Given the description of an element on the screen output the (x, y) to click on. 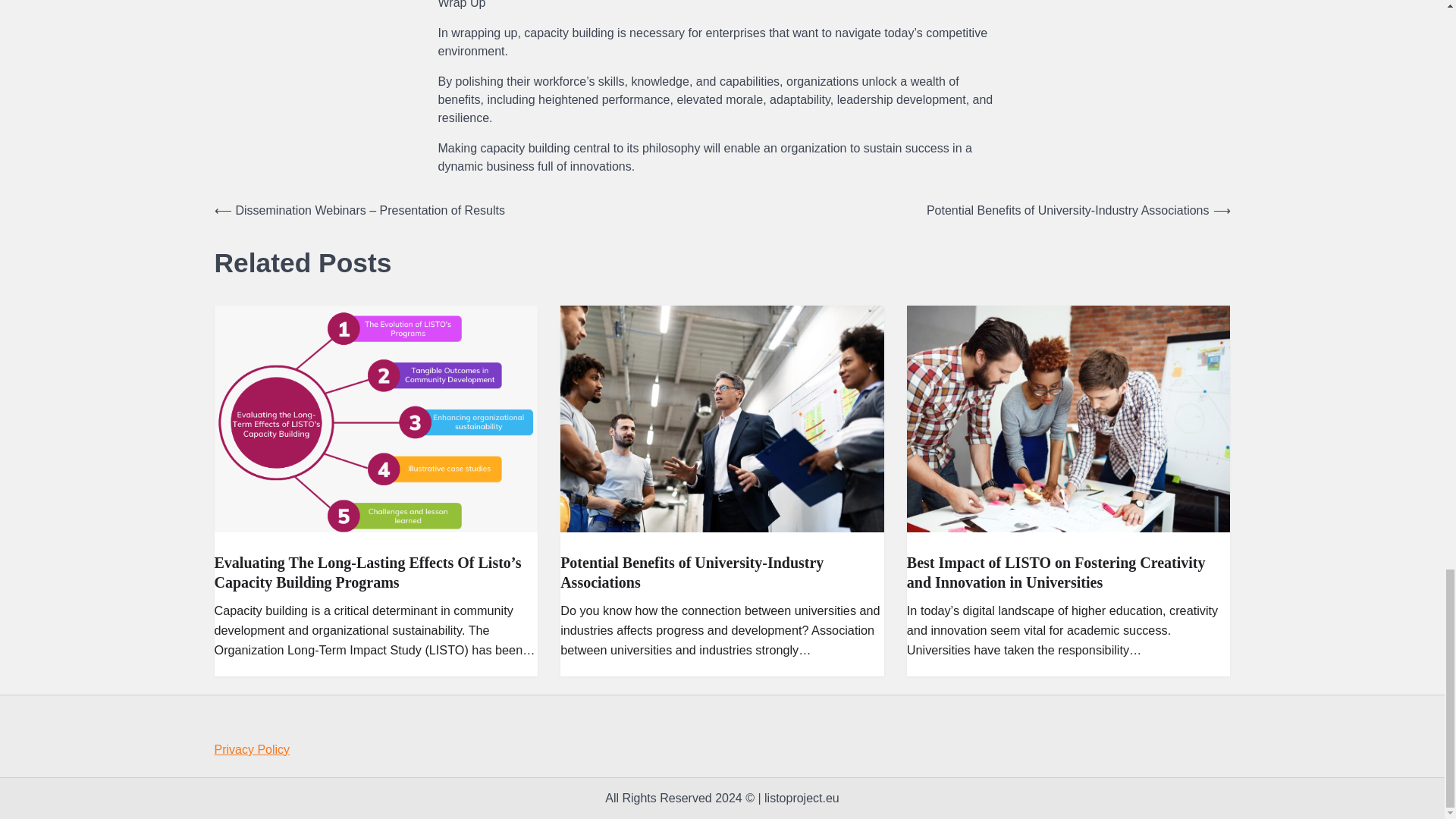
Privacy Policy (251, 748)
Potential Benefits of University-Industry Associations (692, 572)
